Given the description of an element on the screen output the (x, y) to click on. 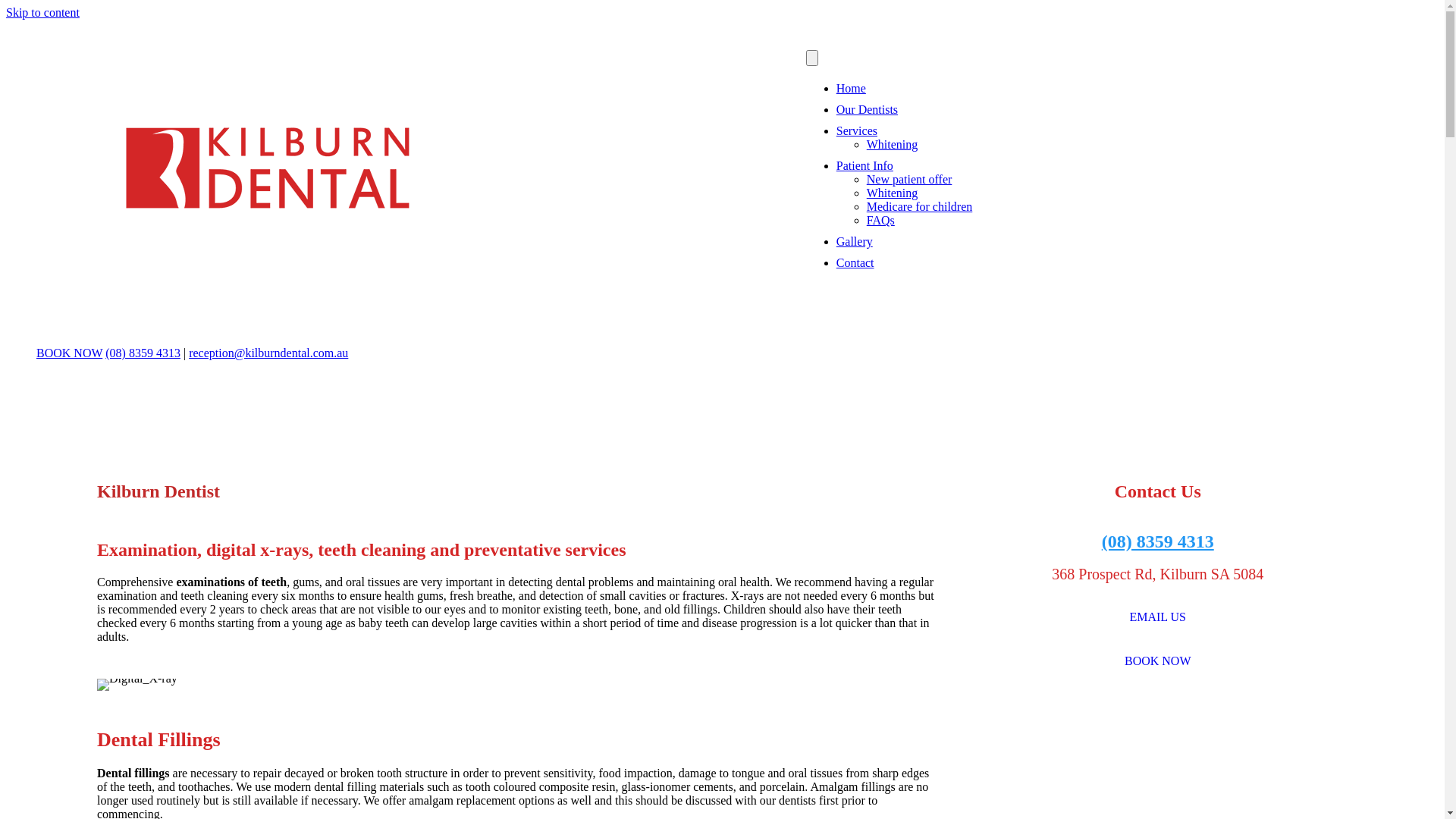
Whitening Element type: text (892, 192)
Digital_X-ray Element type: hover (137, 684)
Our Dentists Element type: text (866, 109)
Patient Info Element type: text (864, 165)
(08) 8359 4313 Element type: text (1157, 541)
Home Element type: text (851, 87)
BOOK NOW Element type: text (69, 352)
FAQs Element type: text (880, 219)
Whitening Element type: text (892, 144)
KD_Logo_2015_transparent Element type: hover (266, 167)
Services Element type: text (856, 130)
Contact Element type: text (855, 262)
New patient offer Element type: text (909, 178)
Medicare for children Element type: text (919, 206)
Skip to content Element type: text (42, 12)
reception@kilburndental.com.au Element type: text (268, 352)
BOOK NOW Element type: text (1157, 660)
(08) 8359 4313 Element type: text (142, 352)
EMAIL US Element type: text (1157, 616)
Gallery Element type: text (854, 241)
